Given the description of an element on the screen output the (x, y) to click on. 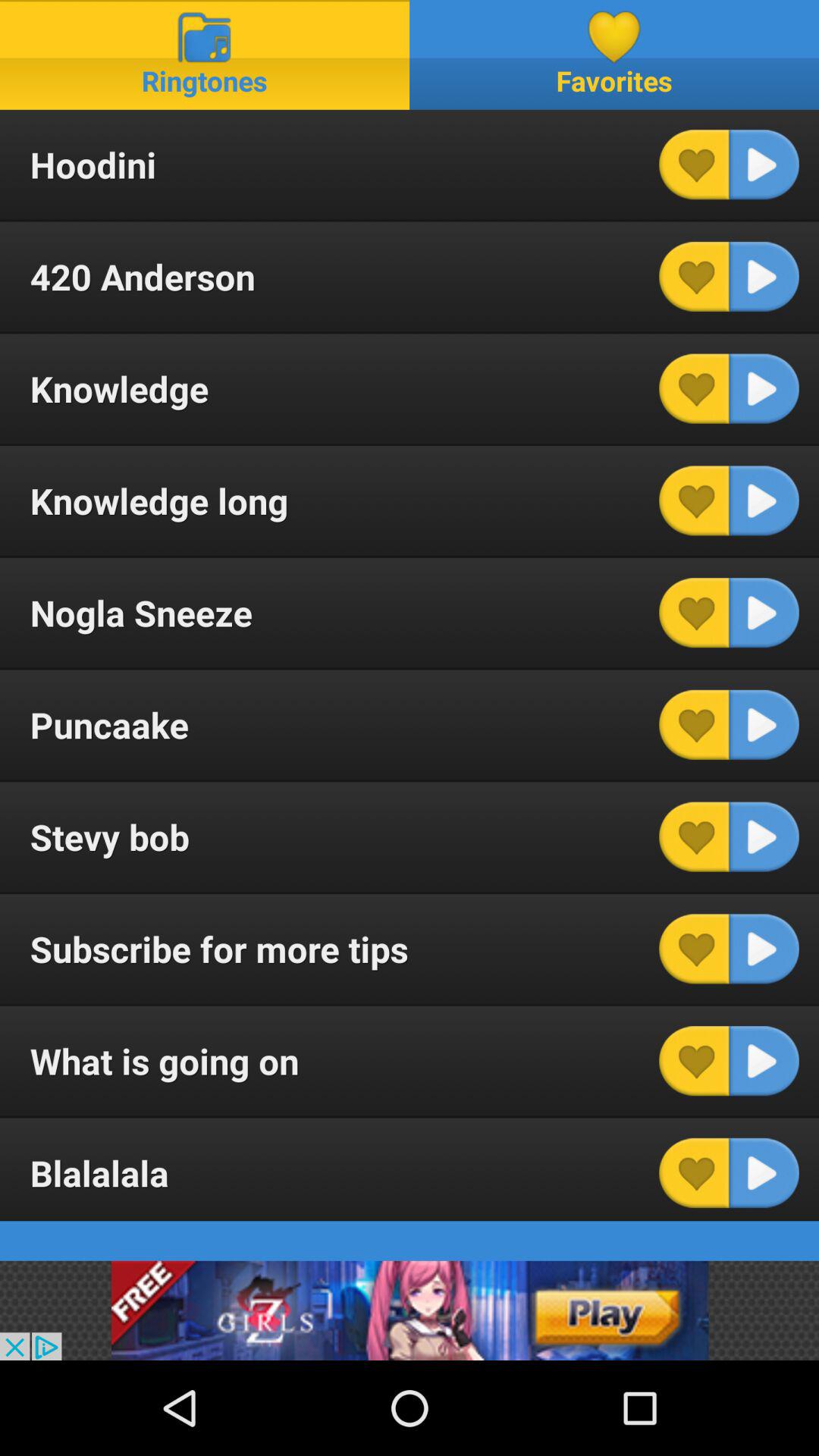
play ringtone (764, 612)
